Given the description of an element on the screen output the (x, y) to click on. 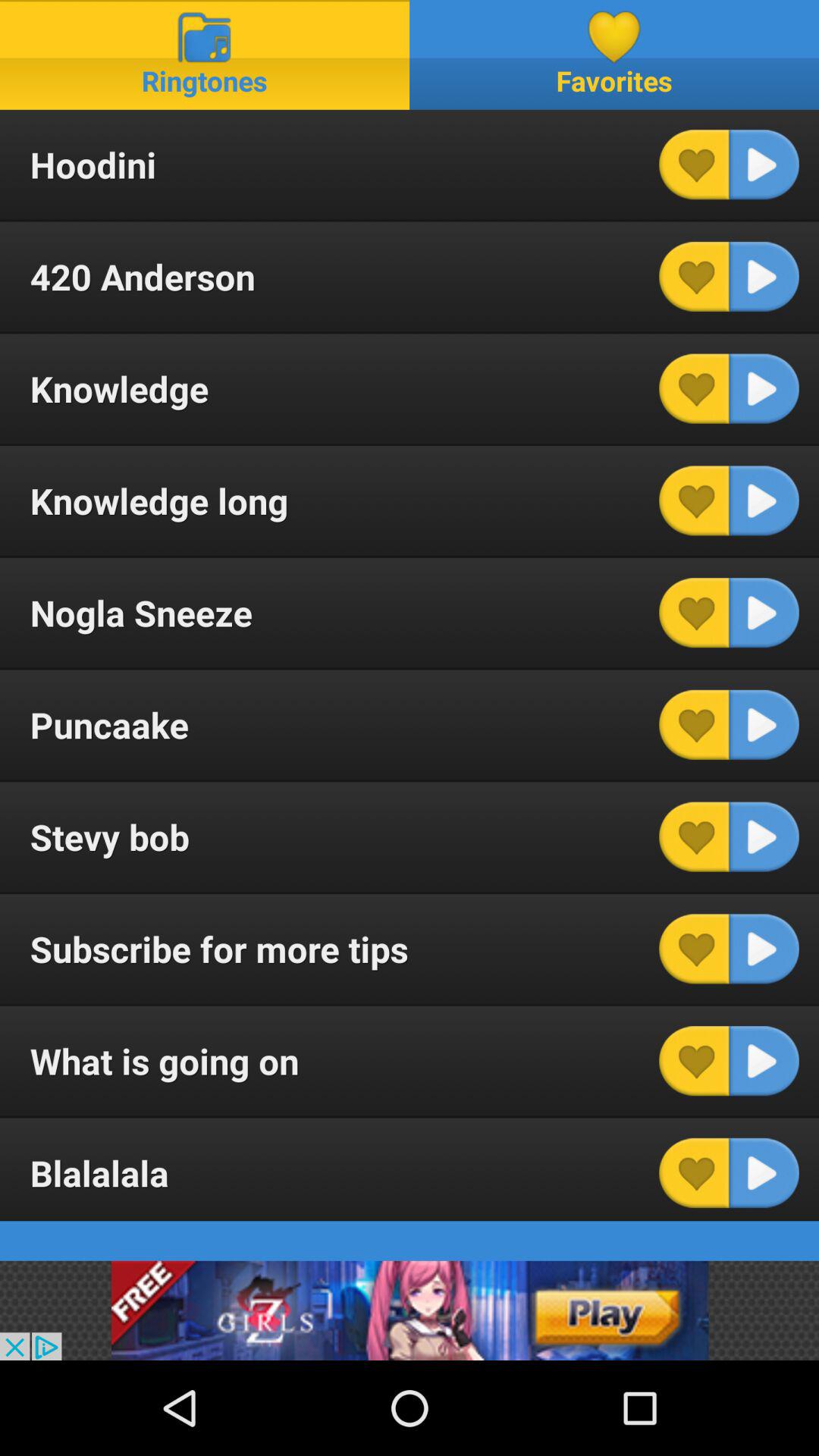
play ringtone (764, 612)
